Given the description of an element on the screen output the (x, y) to click on. 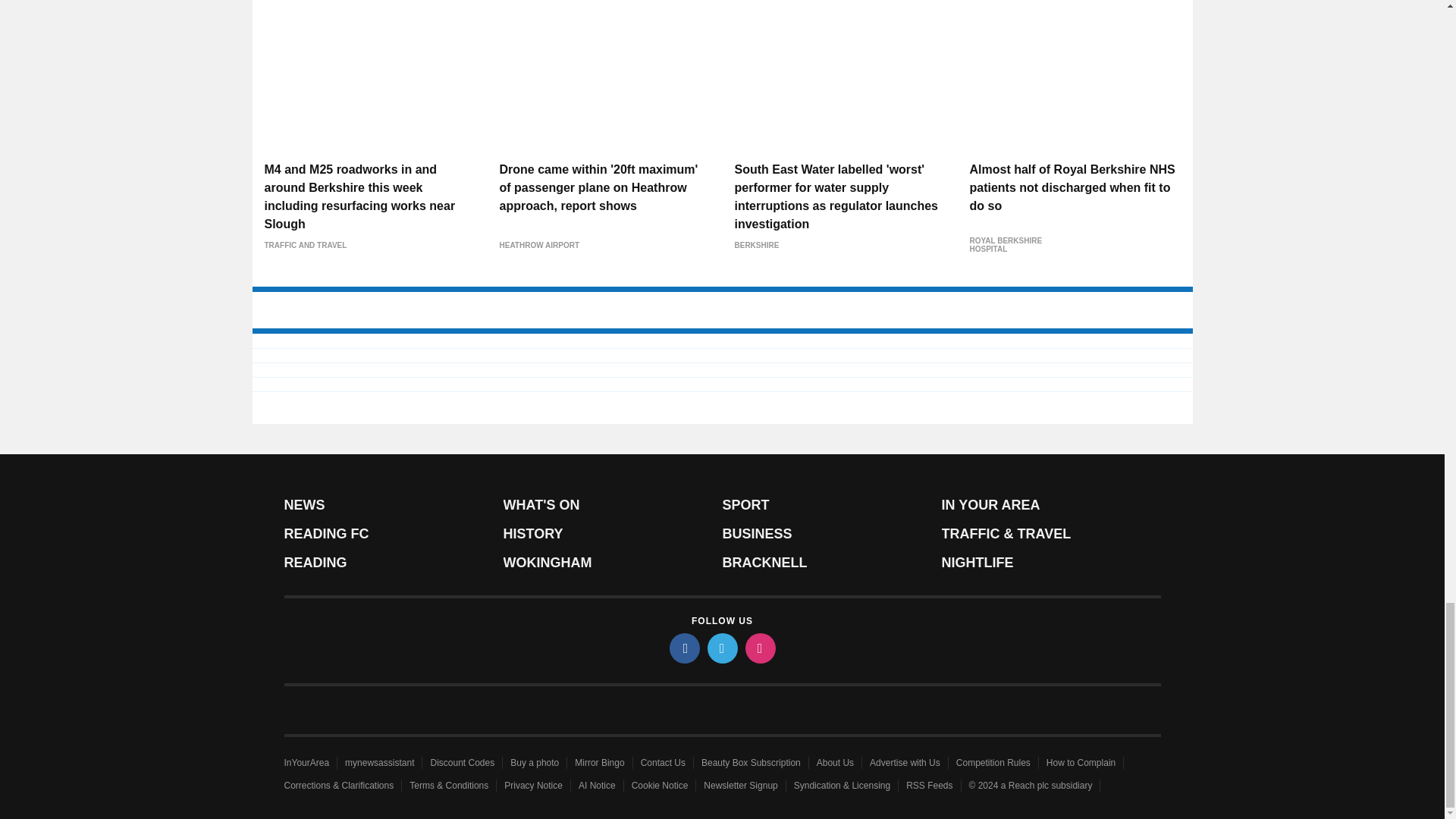
facebook (683, 648)
instagram (759, 648)
twitter (721, 648)
